Given the description of an element on the screen output the (x, y) to click on. 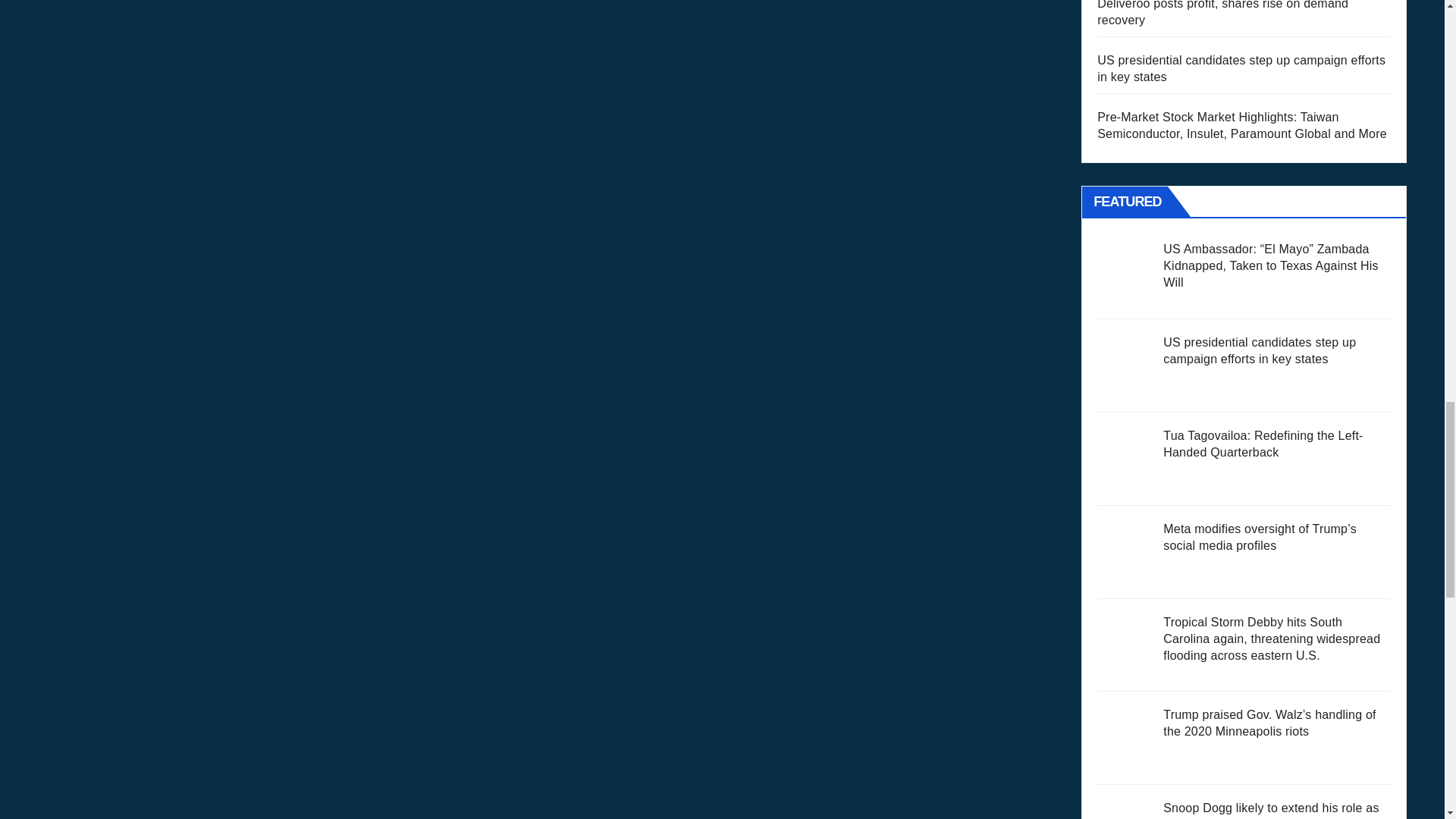
Tua Tagovailoa: Redefining the Left-Handed Quarterback (1125, 459)
